Given the description of an element on the screen output the (x, y) to click on. 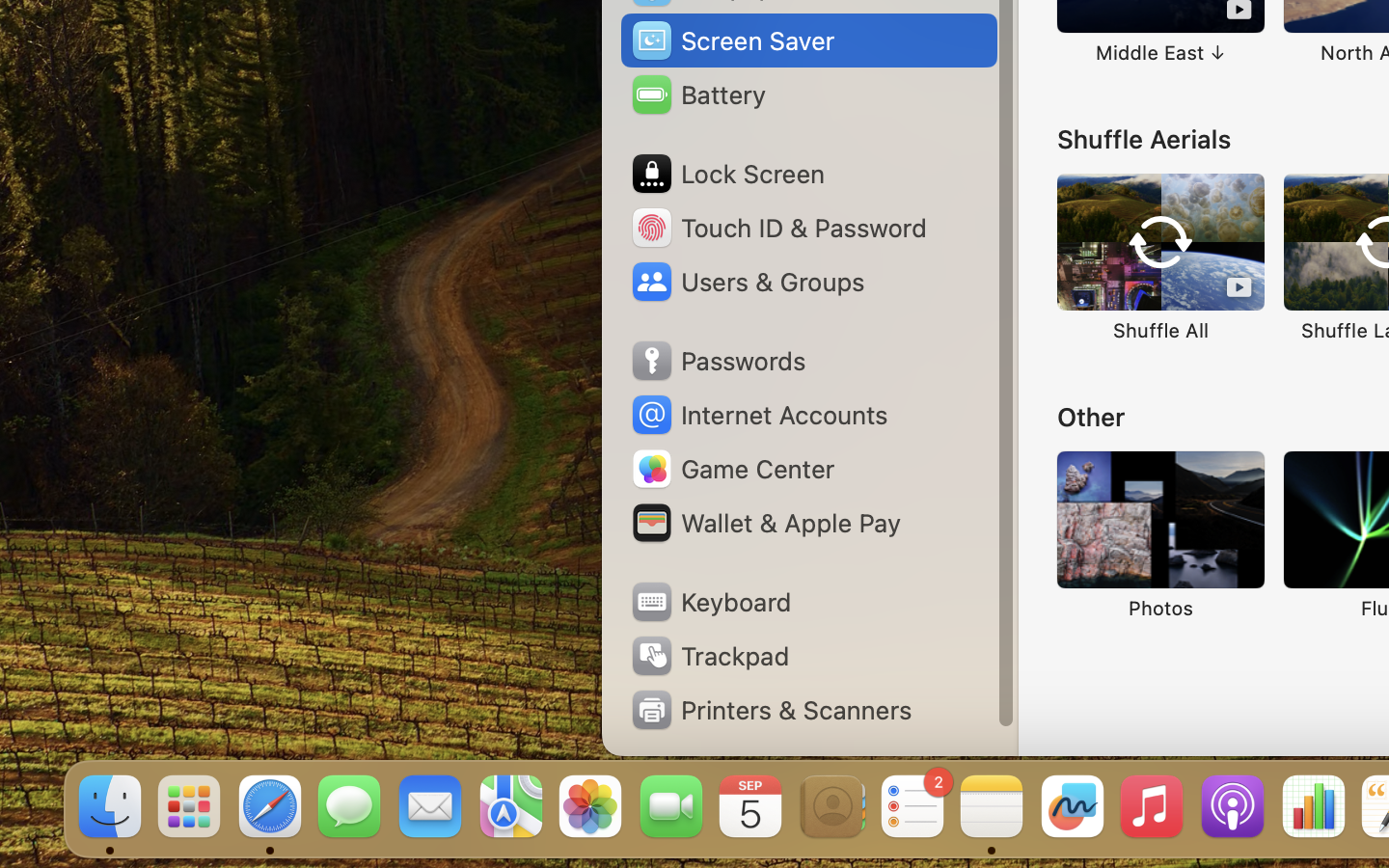
Touch ID & Password Element type: AXStaticText (777, 227)
Users & Groups Element type: AXStaticText (746, 281)
Trackpad Element type: AXStaticText (708, 655)
Internet Accounts Element type: AXStaticText (757, 414)
